Given the description of an element on the screen output the (x, y) to click on. 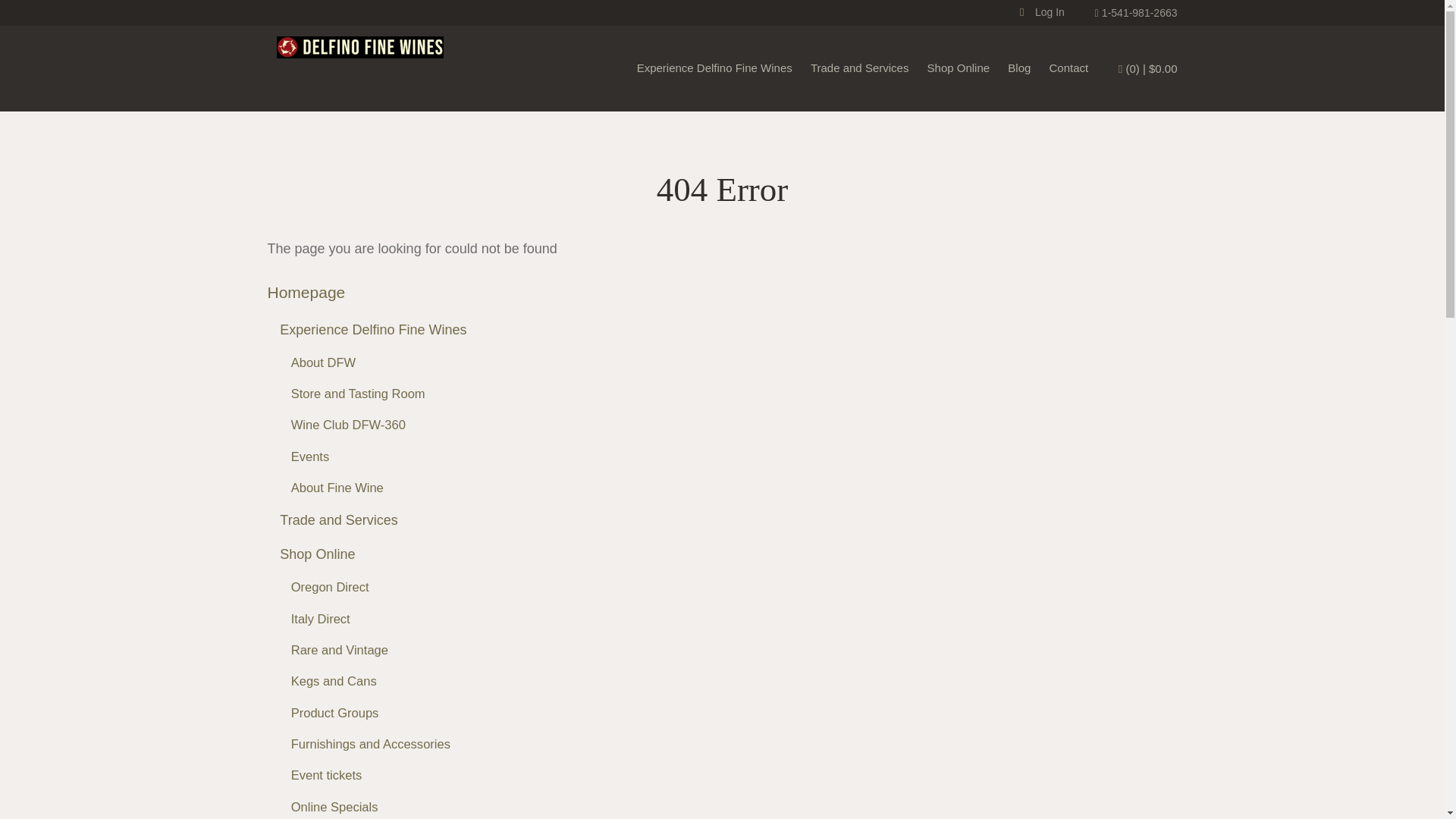
Wine Club DFW-360 (348, 424)
Homepage (305, 292)
Trade and Services (338, 519)
About DFW (323, 362)
Experience Delfino Fine Wines (714, 68)
1-541-981-2663 (1135, 12)
Shop Online (317, 554)
Events (310, 456)
About Fine Wine (337, 487)
Log In (1042, 11)
Trade and Services (859, 68)
Delfino Fine Wines Home (360, 66)
Experience Delfino Fine Wines (372, 329)
Store and Tasting Room (358, 393)
